Given the description of an element on the screen output the (x, y) to click on. 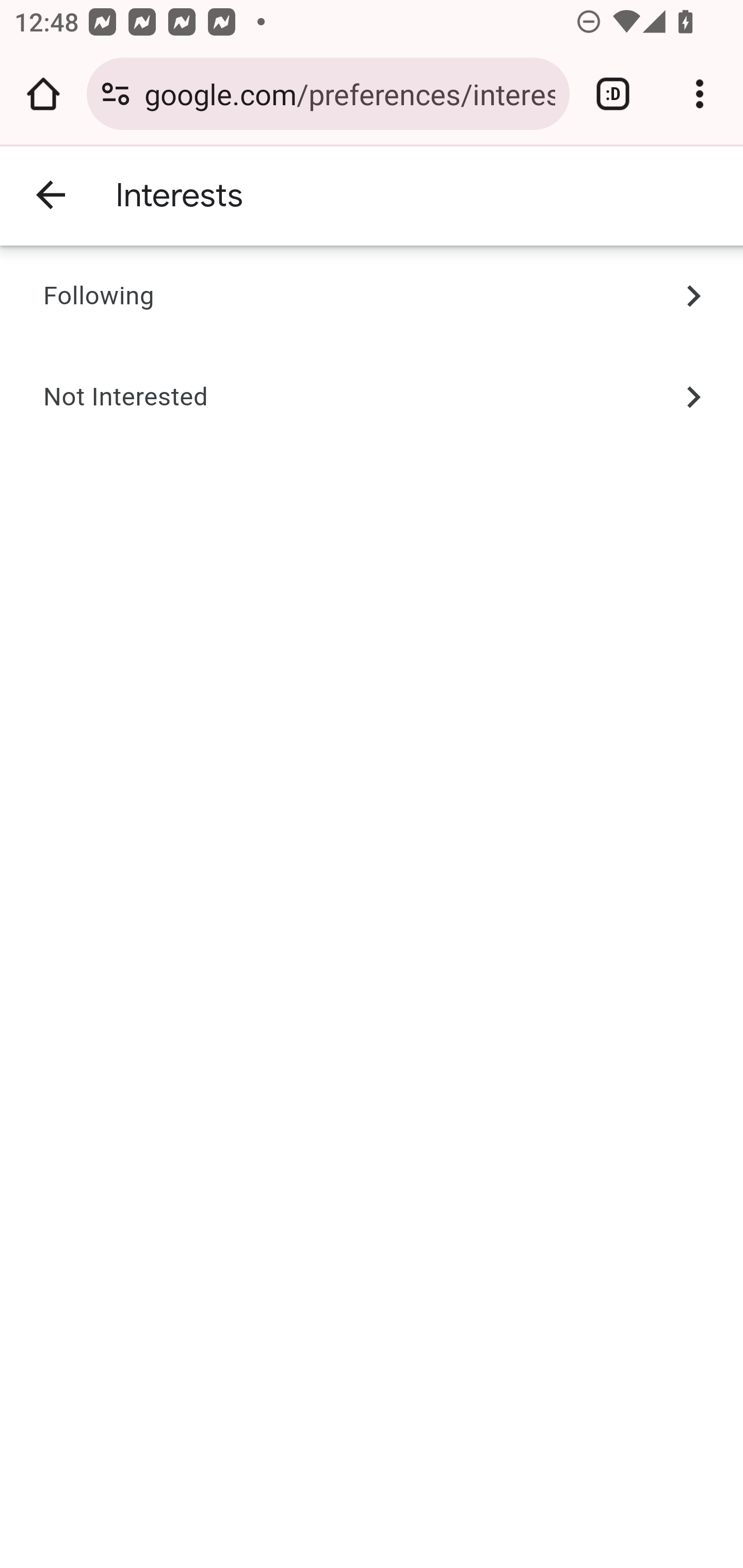
Open the home page (43, 93)
Connection is secure (115, 93)
Switch or close tabs (612, 93)
Customize and control Google Chrome (699, 93)
google.com/preferences/interests (349, 92)
Back (51, 195)
Following Following Following (371, 297)
Following (99, 297)
Not Interested Not Interested Not Interested (371, 397)
Not Interested (126, 397)
